Given the description of an element on the screen output the (x, y) to click on. 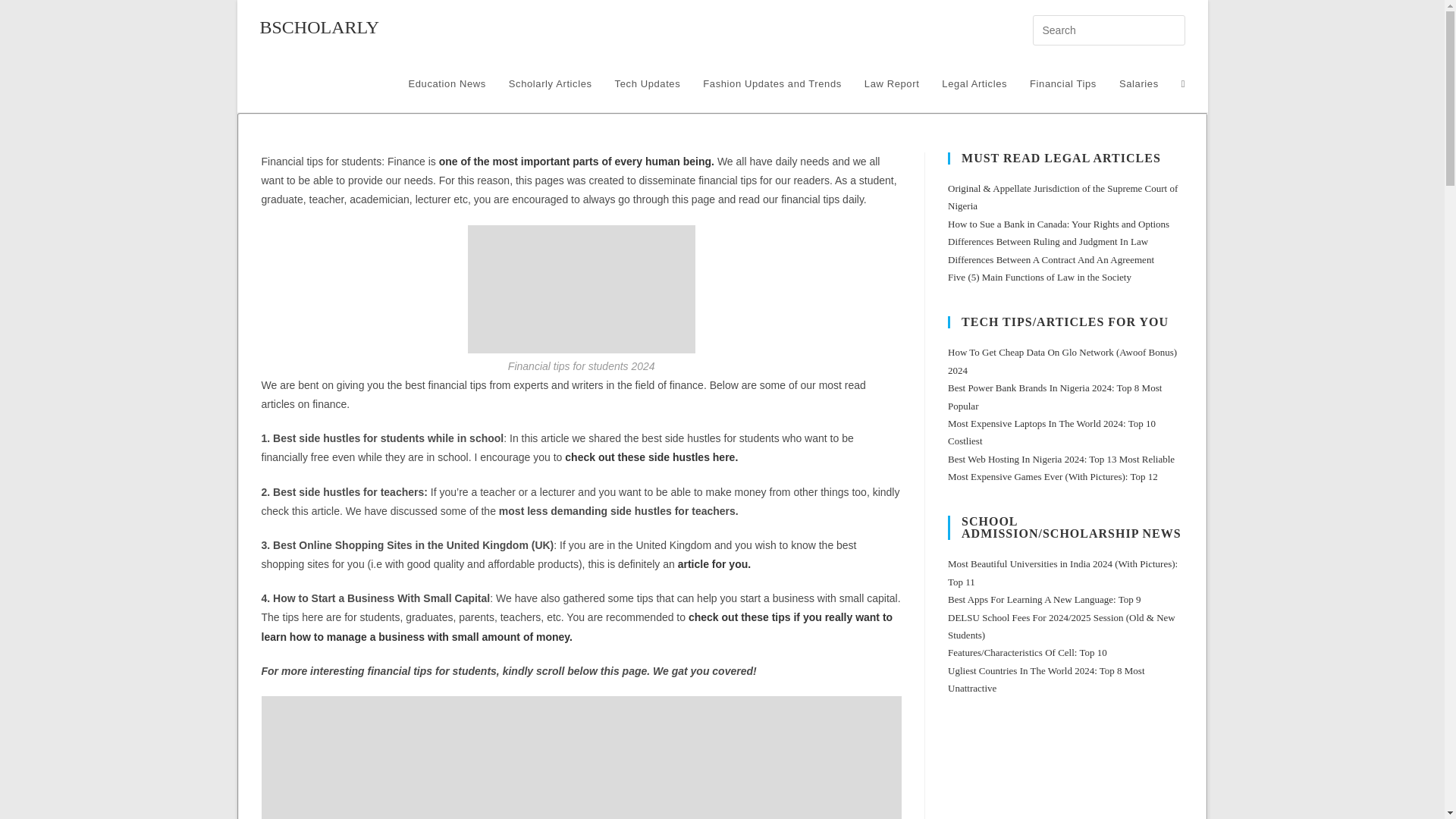
Education News (446, 84)
Salaries (1139, 84)
Financial Tips (1062, 84)
BSCHOLARLY (318, 26)
one of the most important parts of every human being. (576, 161)
Law Report (891, 84)
Scholarly Articles (550, 84)
Fashion Updates and Trends (772, 84)
article for you. (714, 563)
check out these side hustles here. (651, 457)
